Given the description of an element on the screen output the (x, y) to click on. 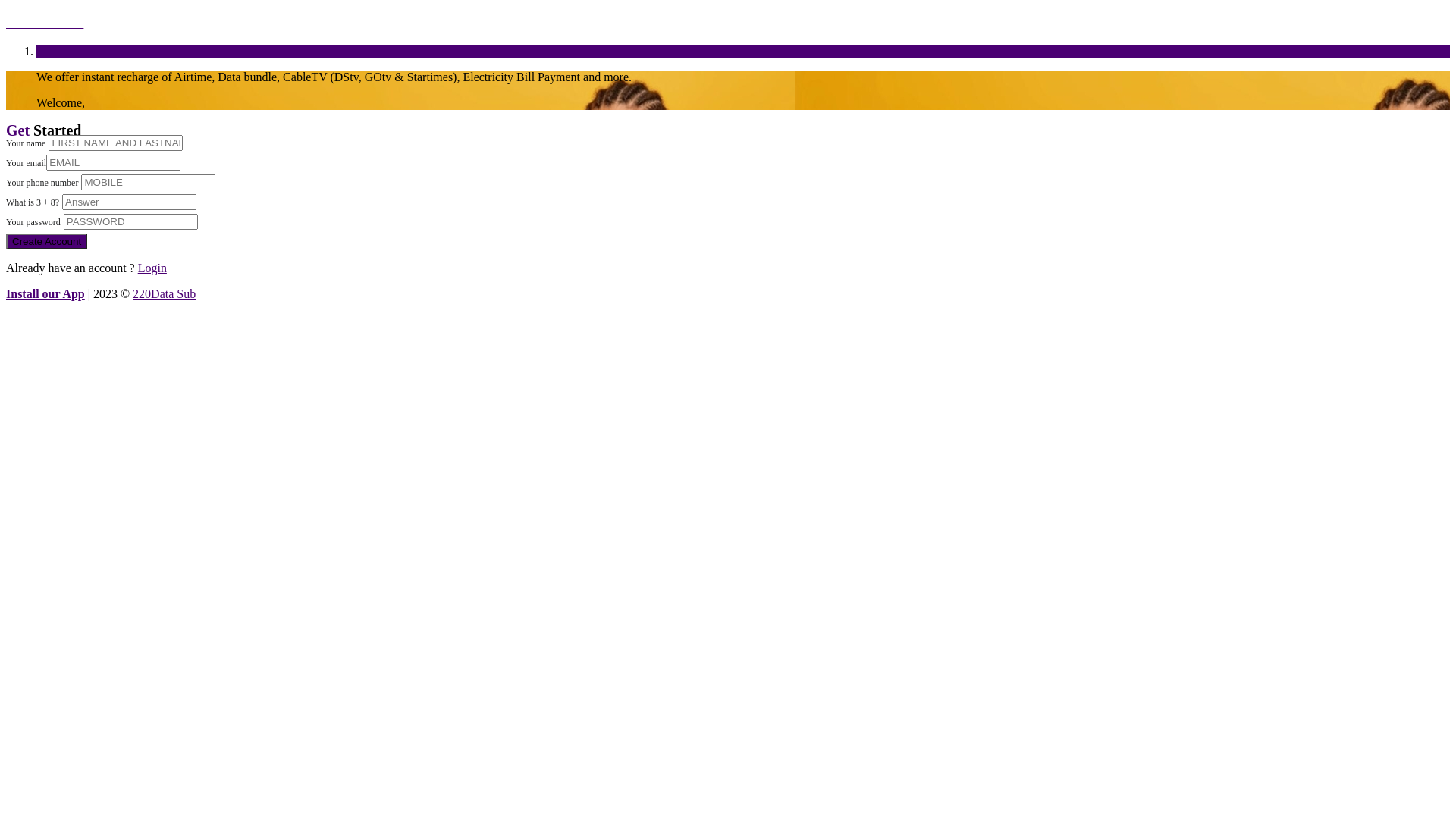
220Data Sub Element type: text (163, 293)
220Data Sub Element type: text (727, 22)
Create Account Element type: text (46, 241)
Login Element type: text (152, 267)
Install our App Element type: text (45, 293)
